Given the description of an element on the screen output the (x, y) to click on. 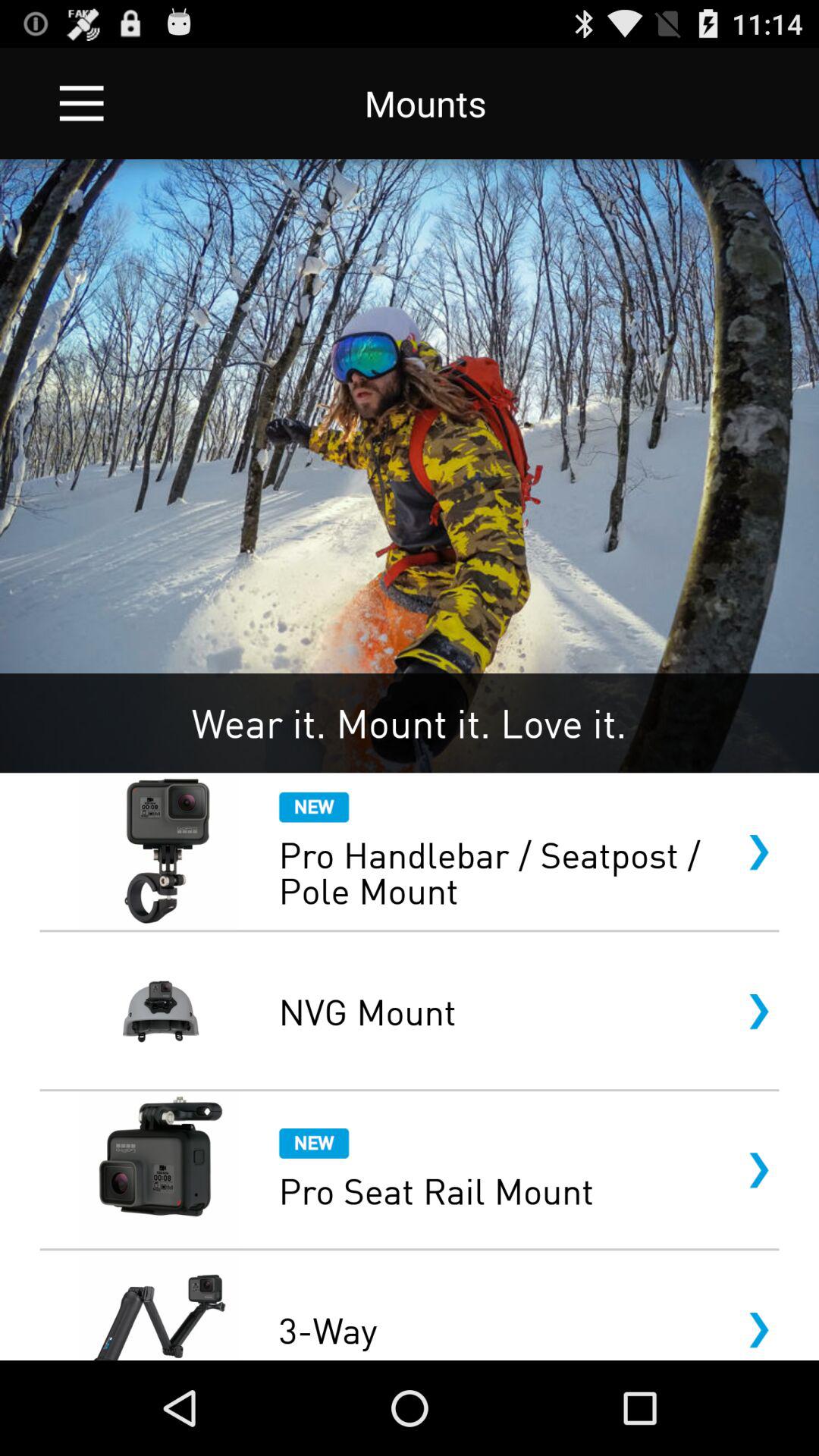
turn off the icon to the left of the mounts app (81, 102)
